Given the description of an element on the screen output the (x, y) to click on. 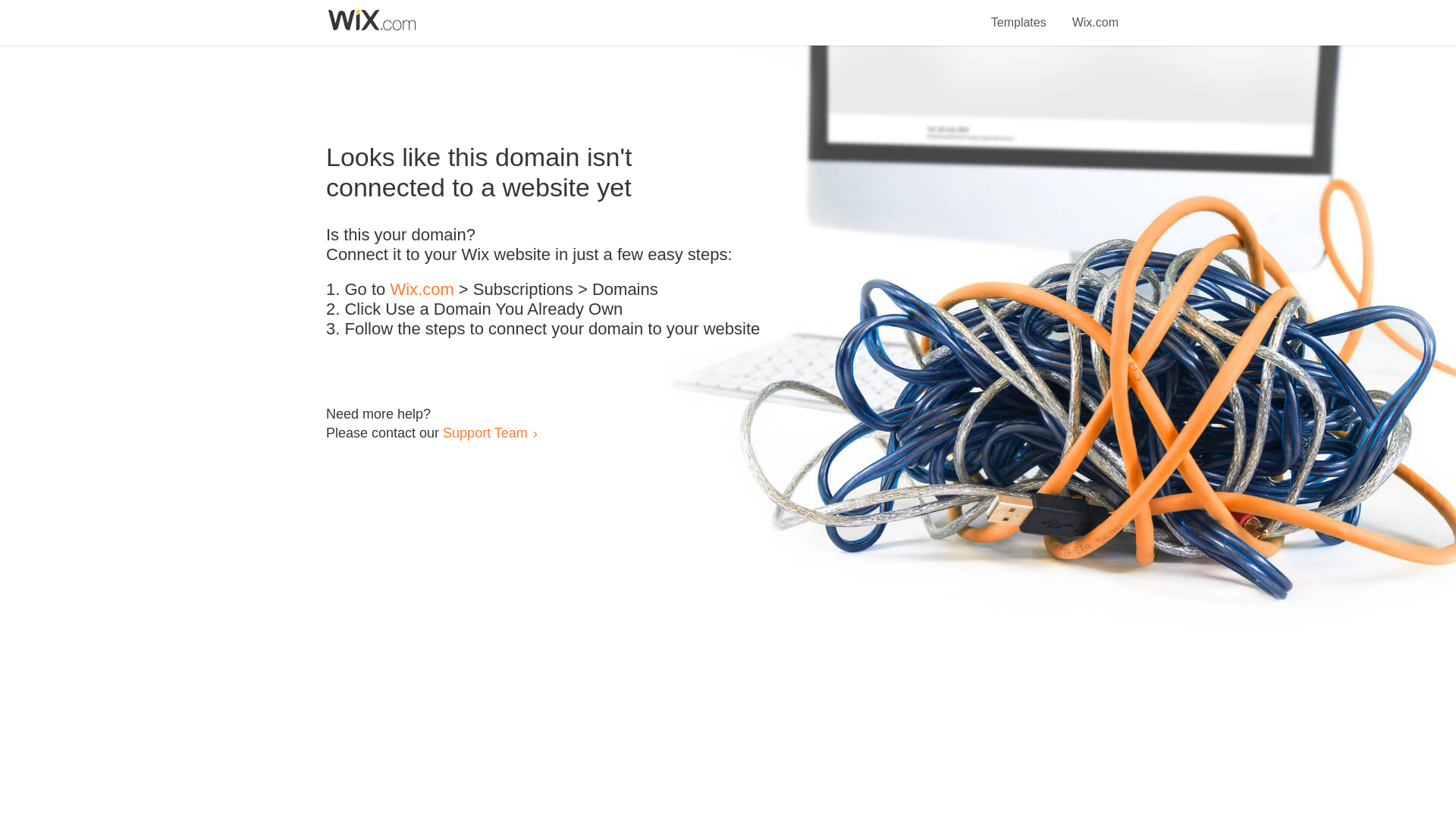
Templates (1018, 14)
Support Team (484, 432)
Wix.com (1095, 14)
Wix.com (421, 289)
